Given the description of an element on the screen output the (x, y) to click on. 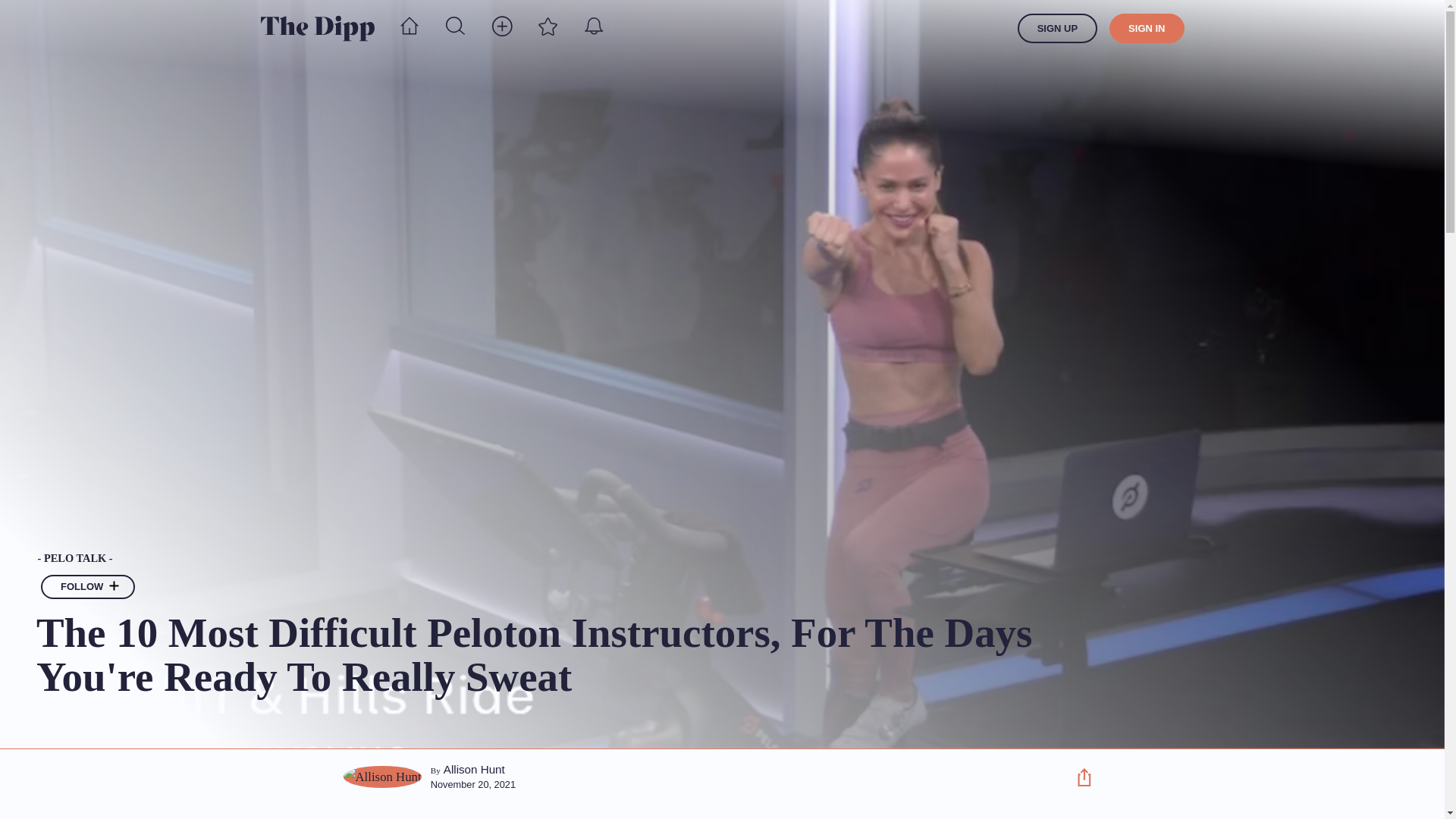
Dipp (317, 28)
SIGN IN (1146, 28)
FOLLOW (87, 586)
Allison Hunt (474, 768)
- PELO TALK - (542, 559)
SIGN UP (1057, 28)
